Given the description of an element on the screen output the (x, y) to click on. 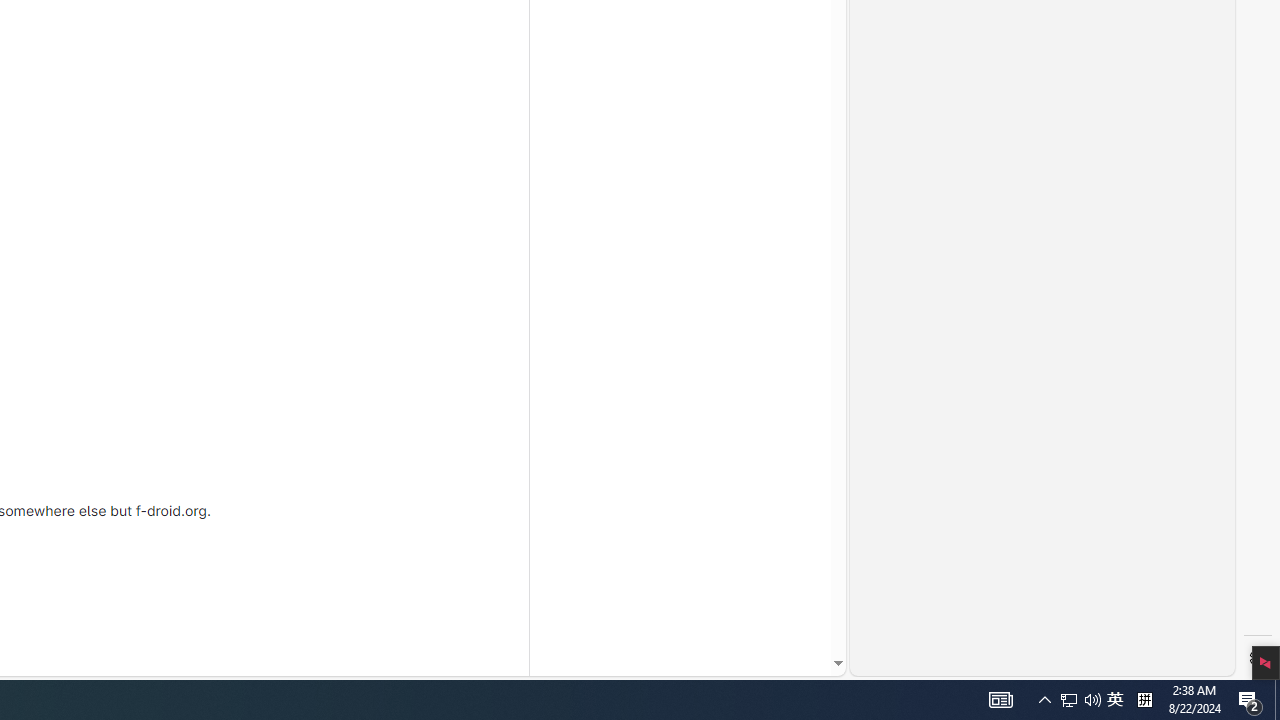
Maximize Panel Size (1230, 227)
Python (1135, 668)
Hide Panel (1256, 227)
Terminal 5 Python (1220, 277)
Ln 246, Col 58 (891, 668)
Spaces: 4 (968, 668)
Launch Profile... (1181, 227)
UTF-8 (1025, 668)
Terminal 1 powershell (1220, 255)
